Given the description of an element on the screen output the (x, y) to click on. 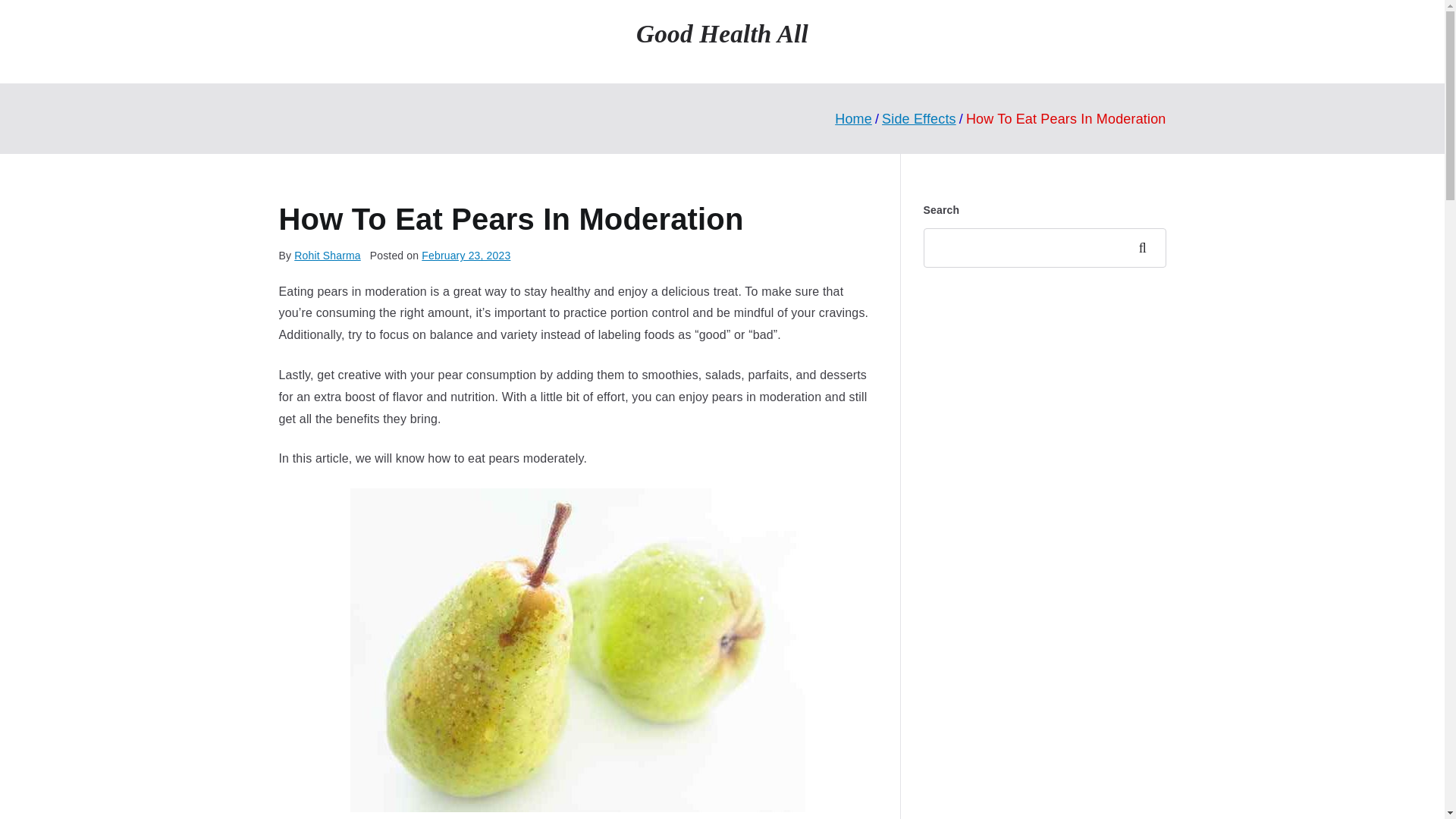
Home (853, 118)
Rohit Sharma (327, 255)
Search (1147, 247)
Good Health All (722, 33)
February 23, 2023 (466, 255)
Side Effects (919, 118)
